Given the description of an element on the screen output the (x, y) to click on. 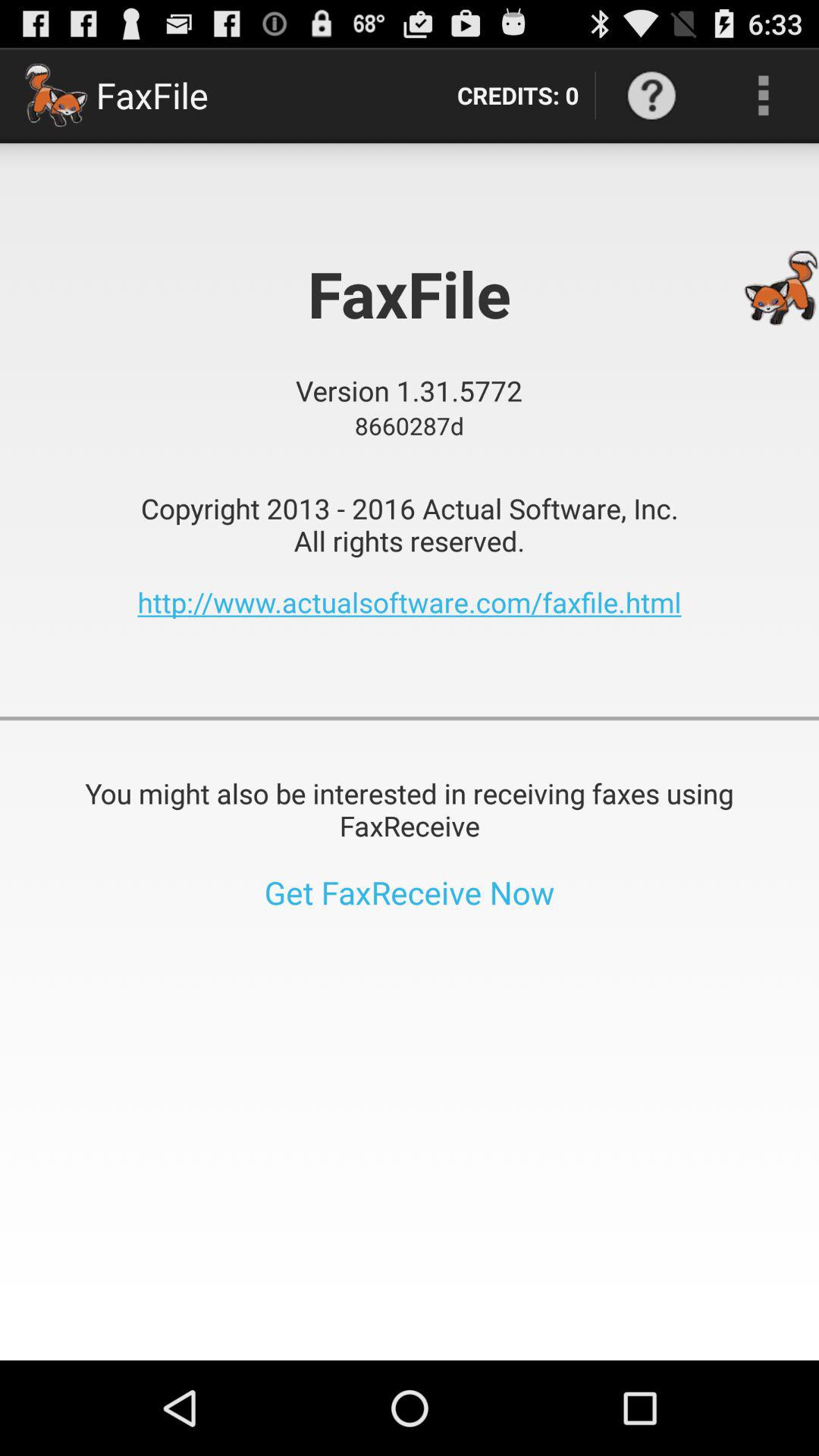
flip until the get faxreceive now (409, 892)
